Given the description of an element on the screen output the (x, y) to click on. 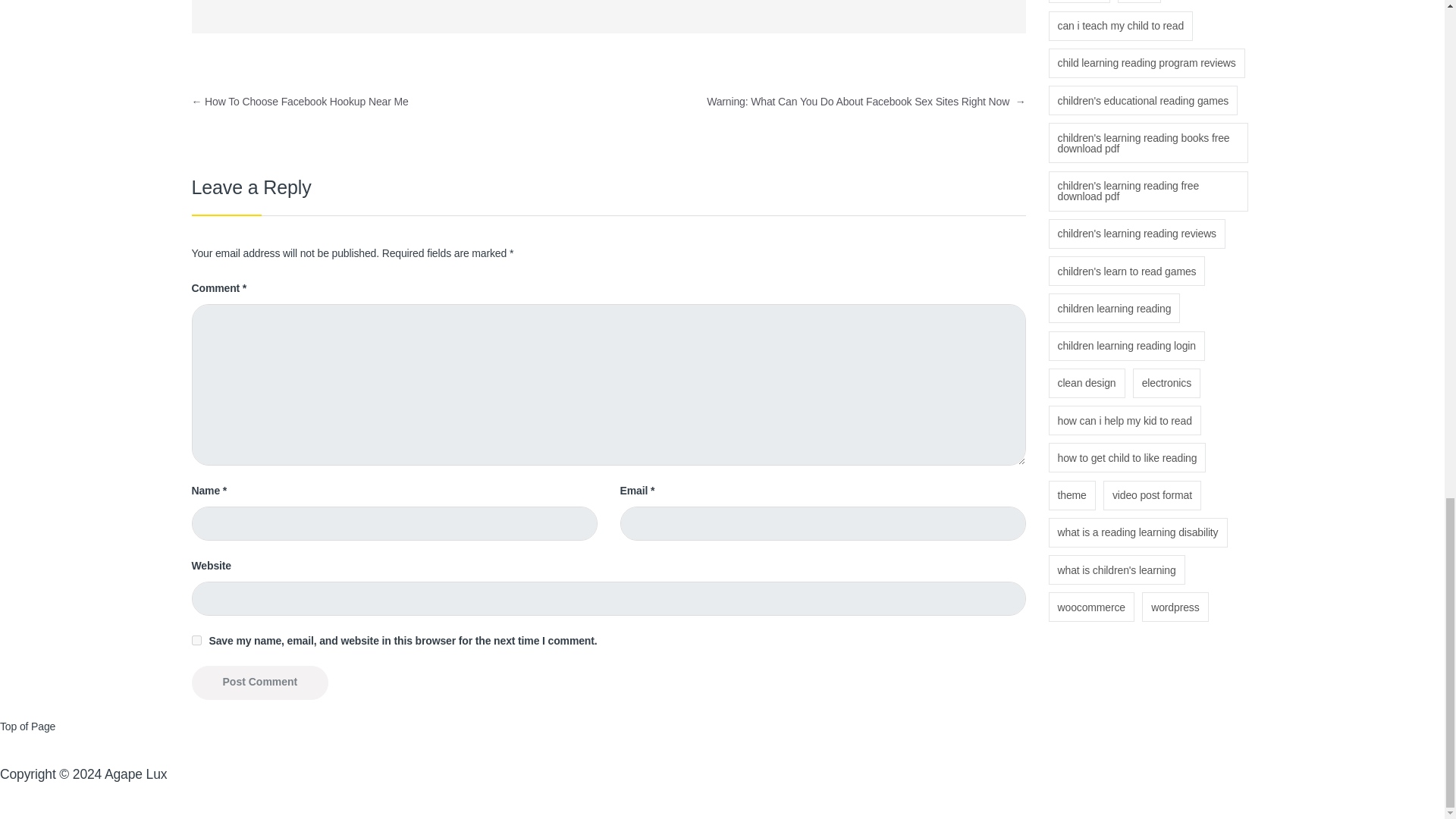
yes (195, 640)
Post Comment (259, 682)
Agape Lux (135, 774)
Post Comment (259, 682)
